Given the description of an element on the screen output the (x, y) to click on. 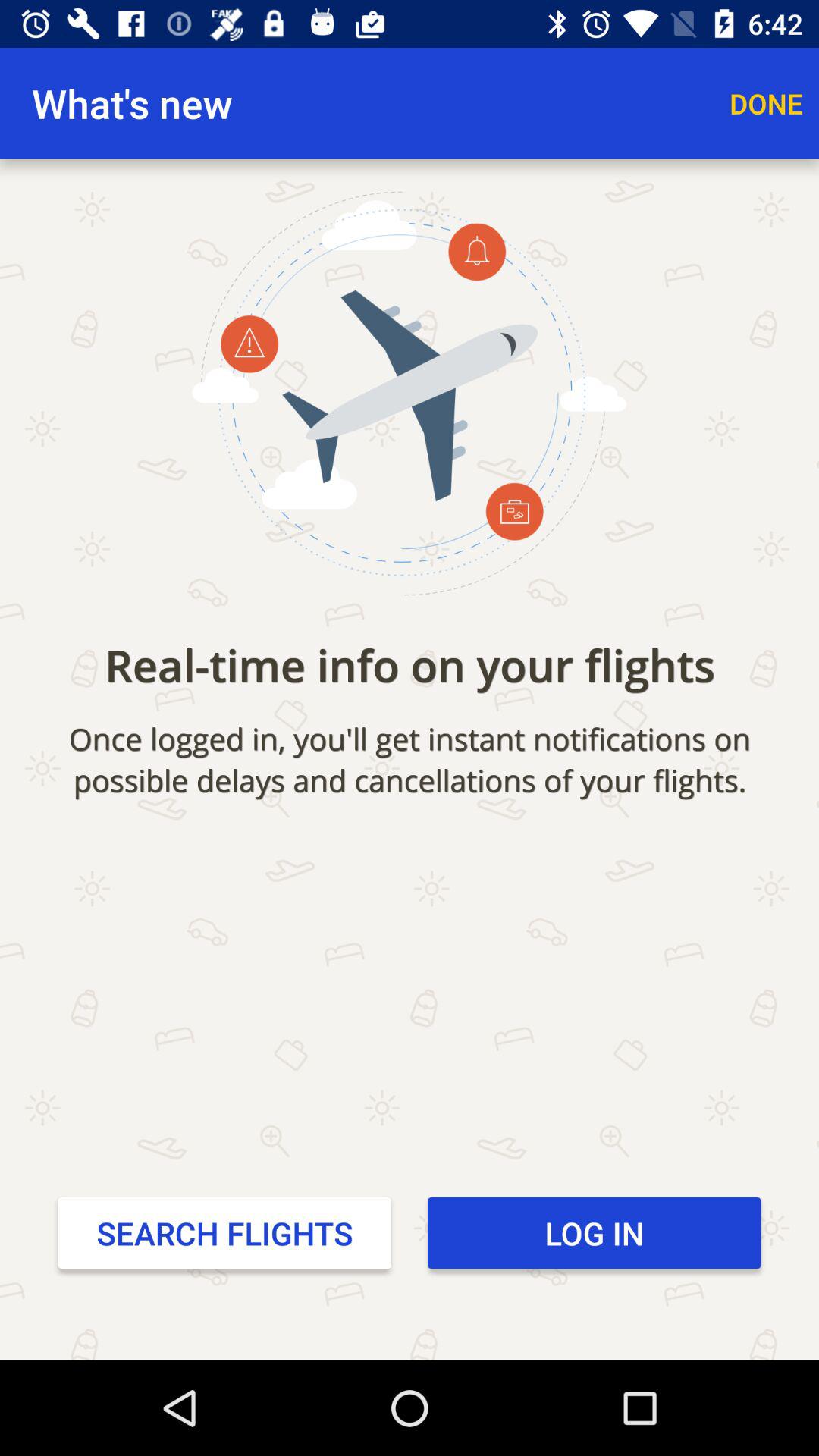
turn on the icon next to the log in item (224, 1232)
